Given the description of an element on the screen output the (x, y) to click on. 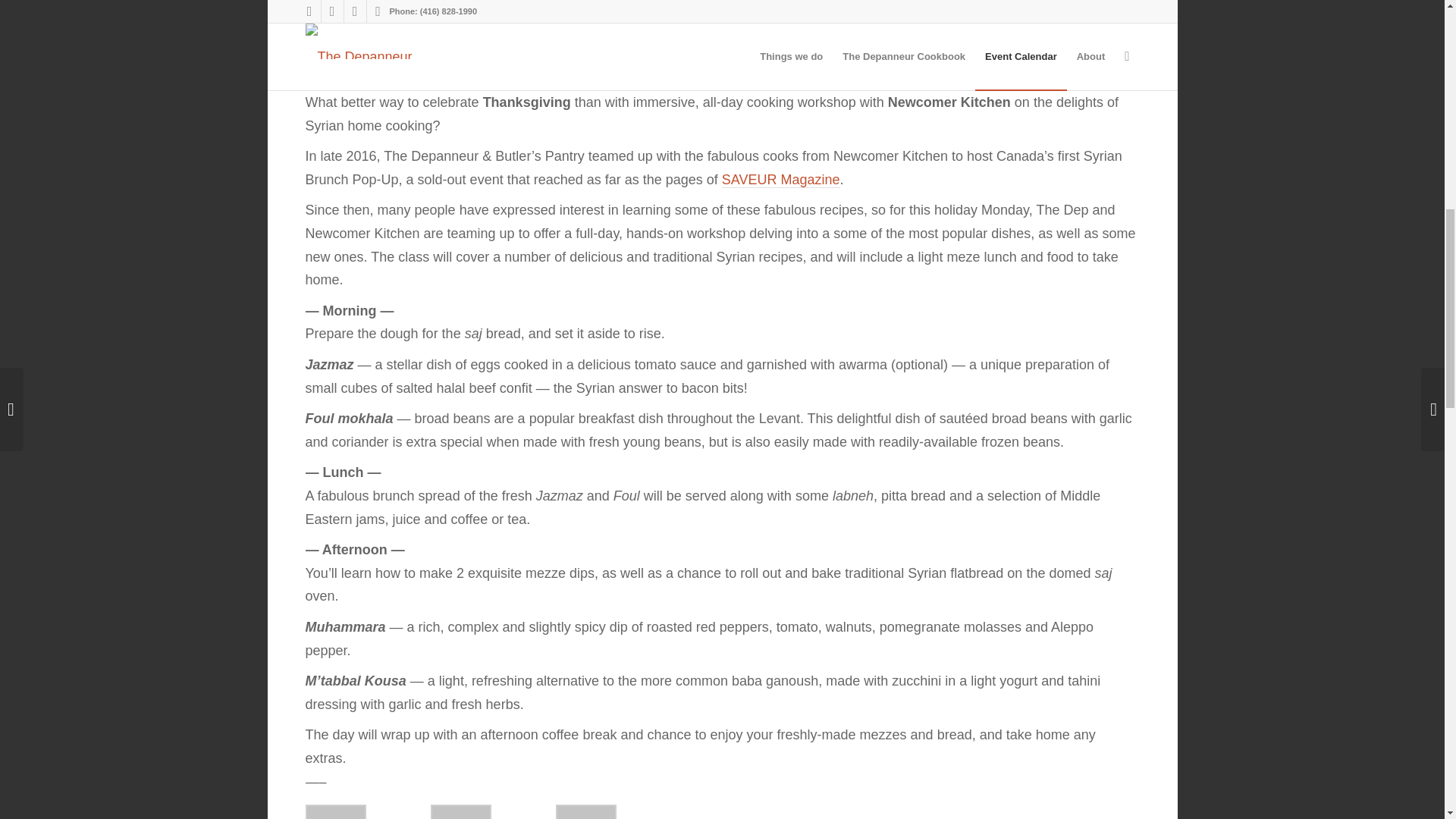
SAVEUR Magazine (781, 179)
